Given the description of an element on the screen output the (x, y) to click on. 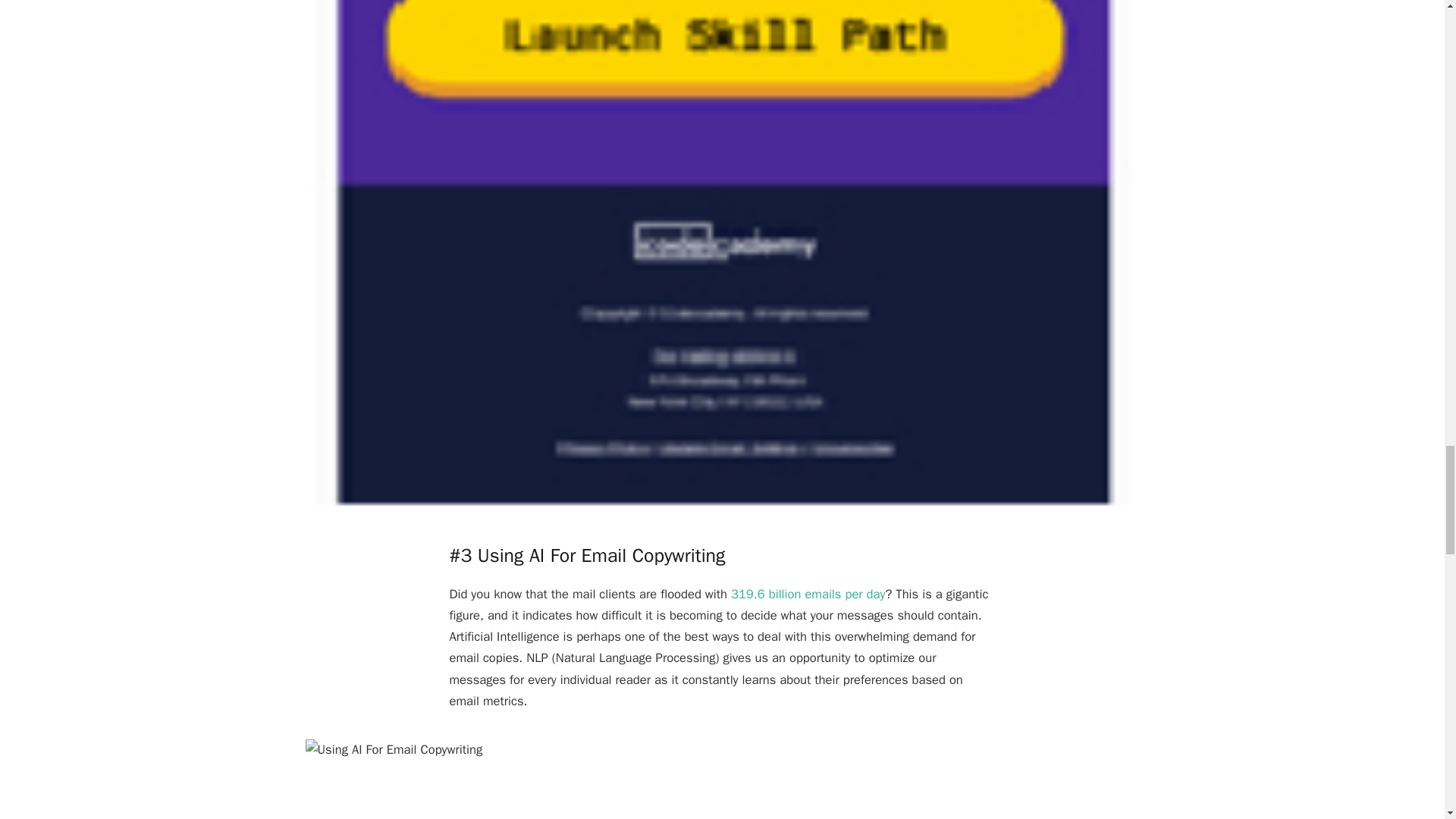
319.6 billion emails per day (807, 593)
